Given the description of an element on the screen output the (x, y) to click on. 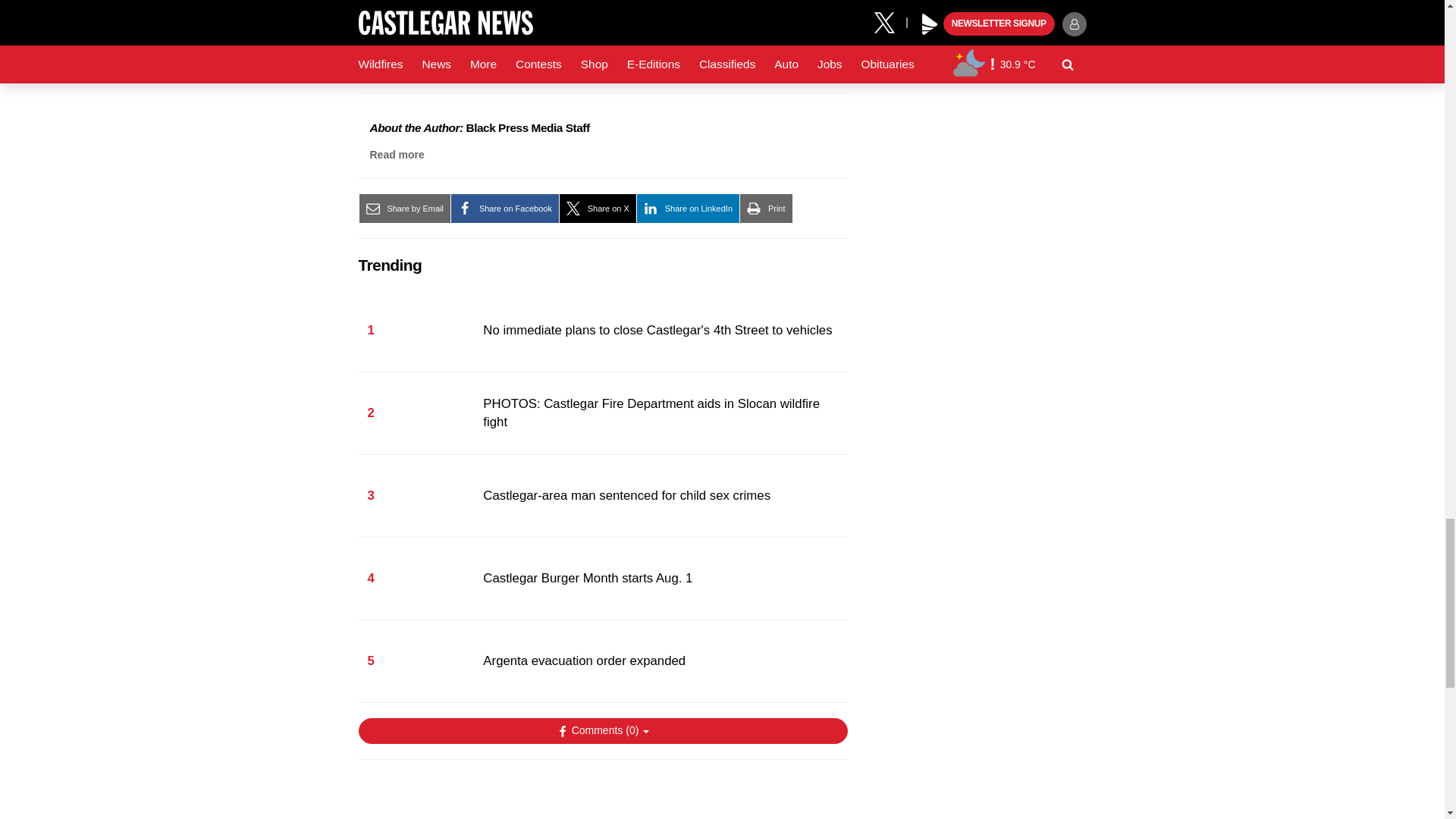
Show Comments (602, 730)
